Given the description of an element on the screen output the (x, y) to click on. 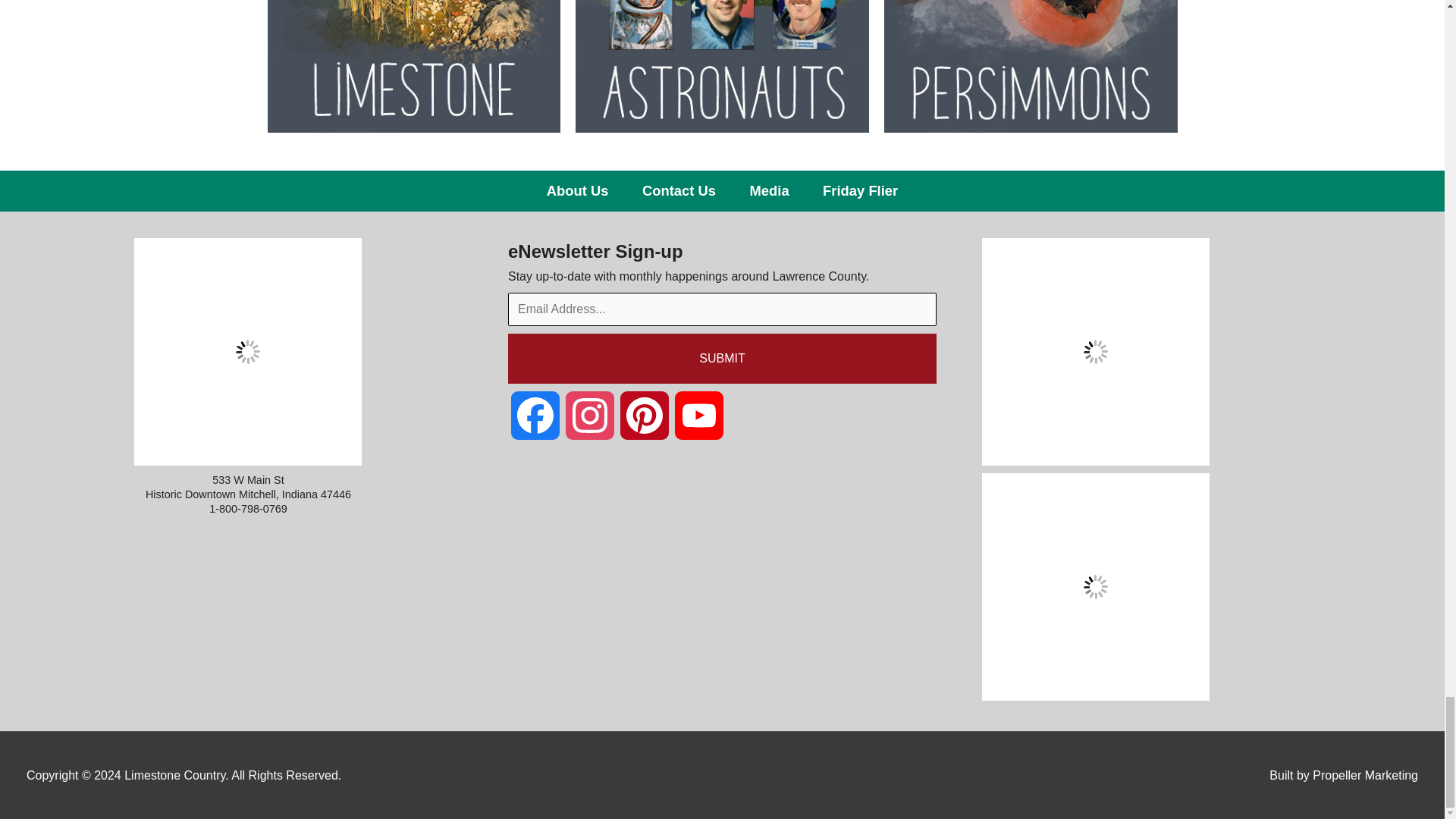
SUBMIT (722, 358)
